Given the description of an element on the screen output the (x, y) to click on. 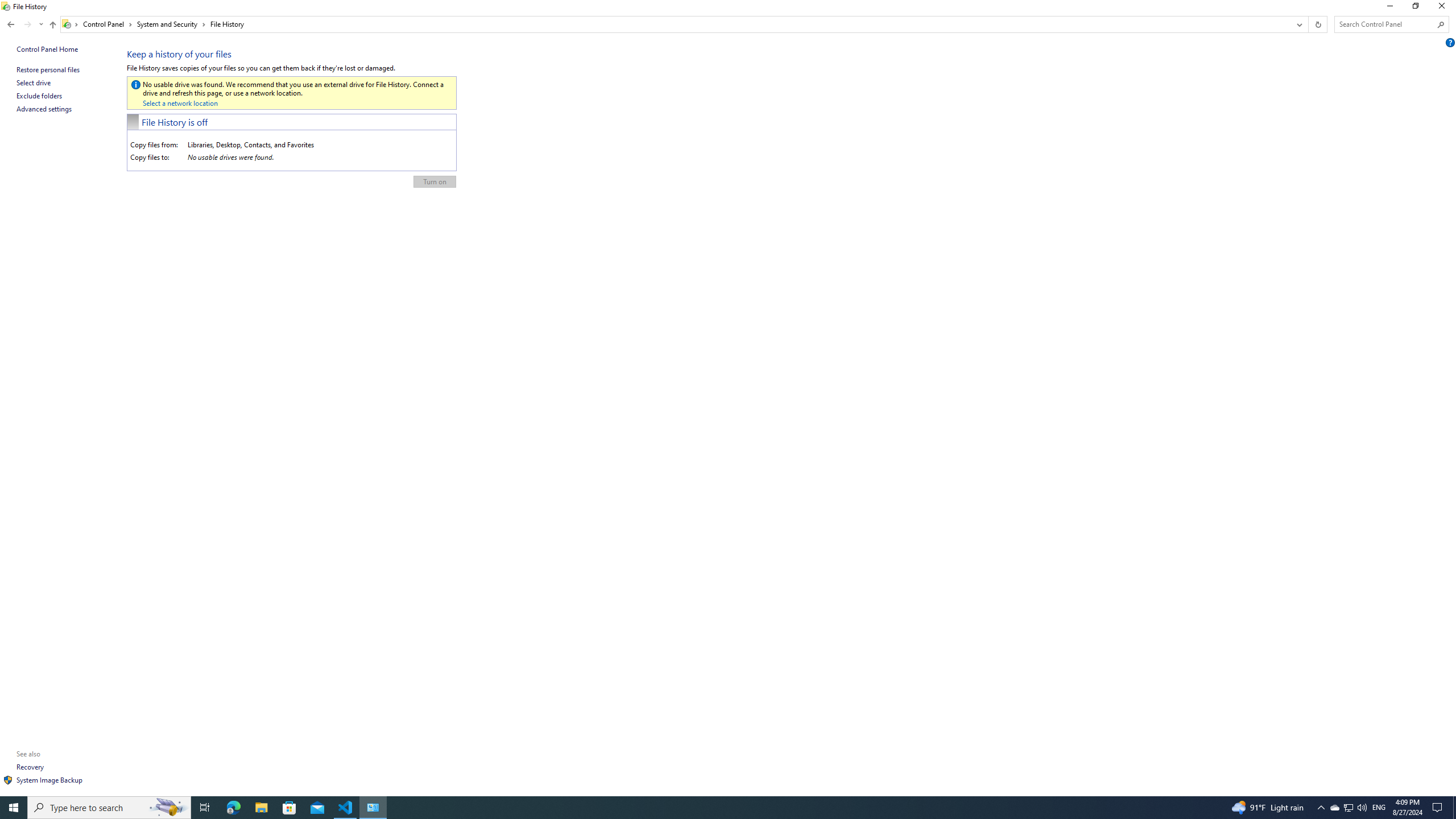
All locations (70, 23)
System (6, 6)
Address: Control Panel\System and Security\File History (675, 23)
Restore (1415, 8)
Up band toolbar (52, 26)
Address band toolbar (1308, 23)
System and Security (171, 23)
Exclude folders (39, 95)
